Given the description of an element on the screen output the (x, y) to click on. 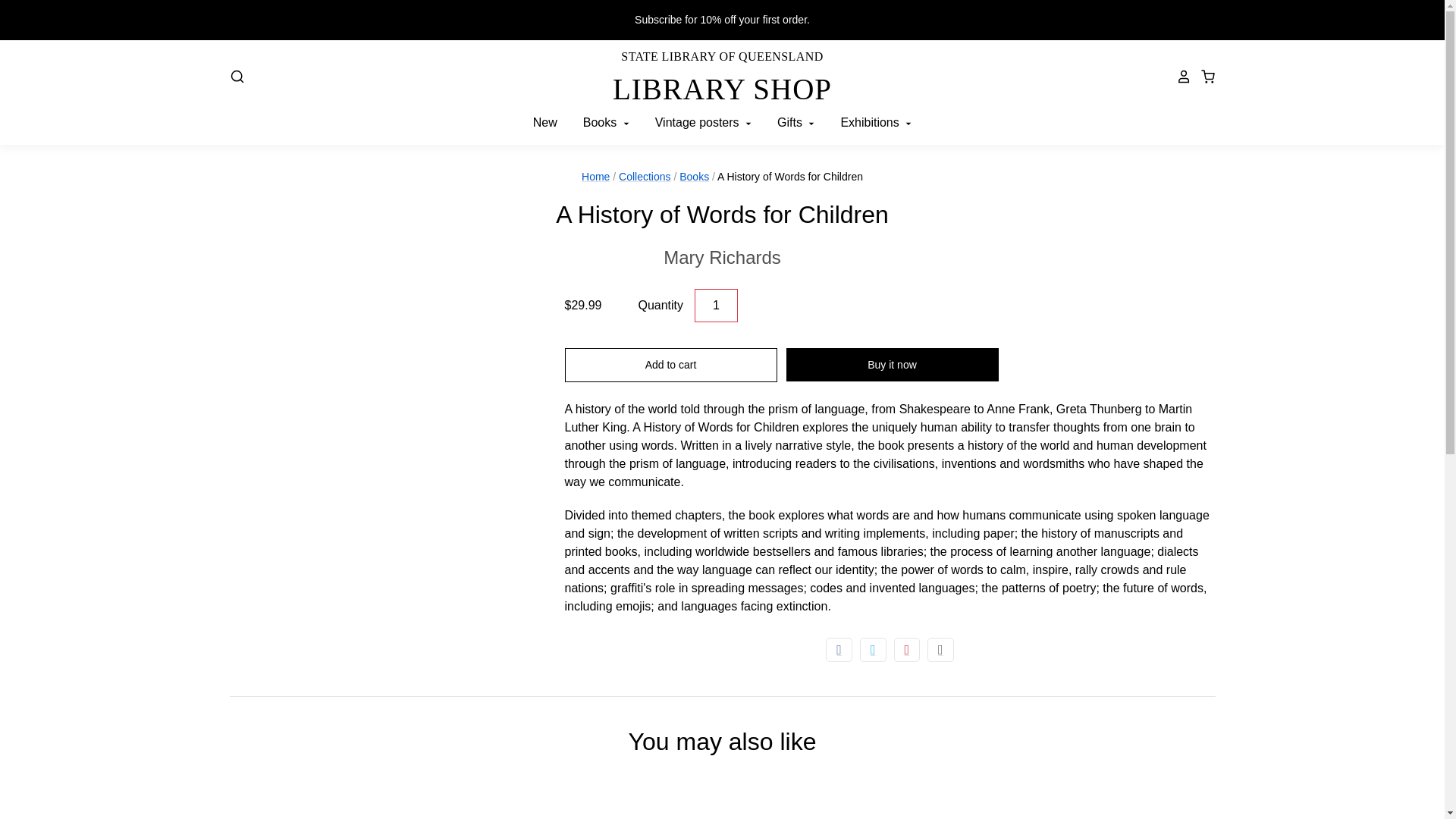
1 (715, 305)
Add to cart (670, 364)
